Given the description of an element on the screen output the (x, y) to click on. 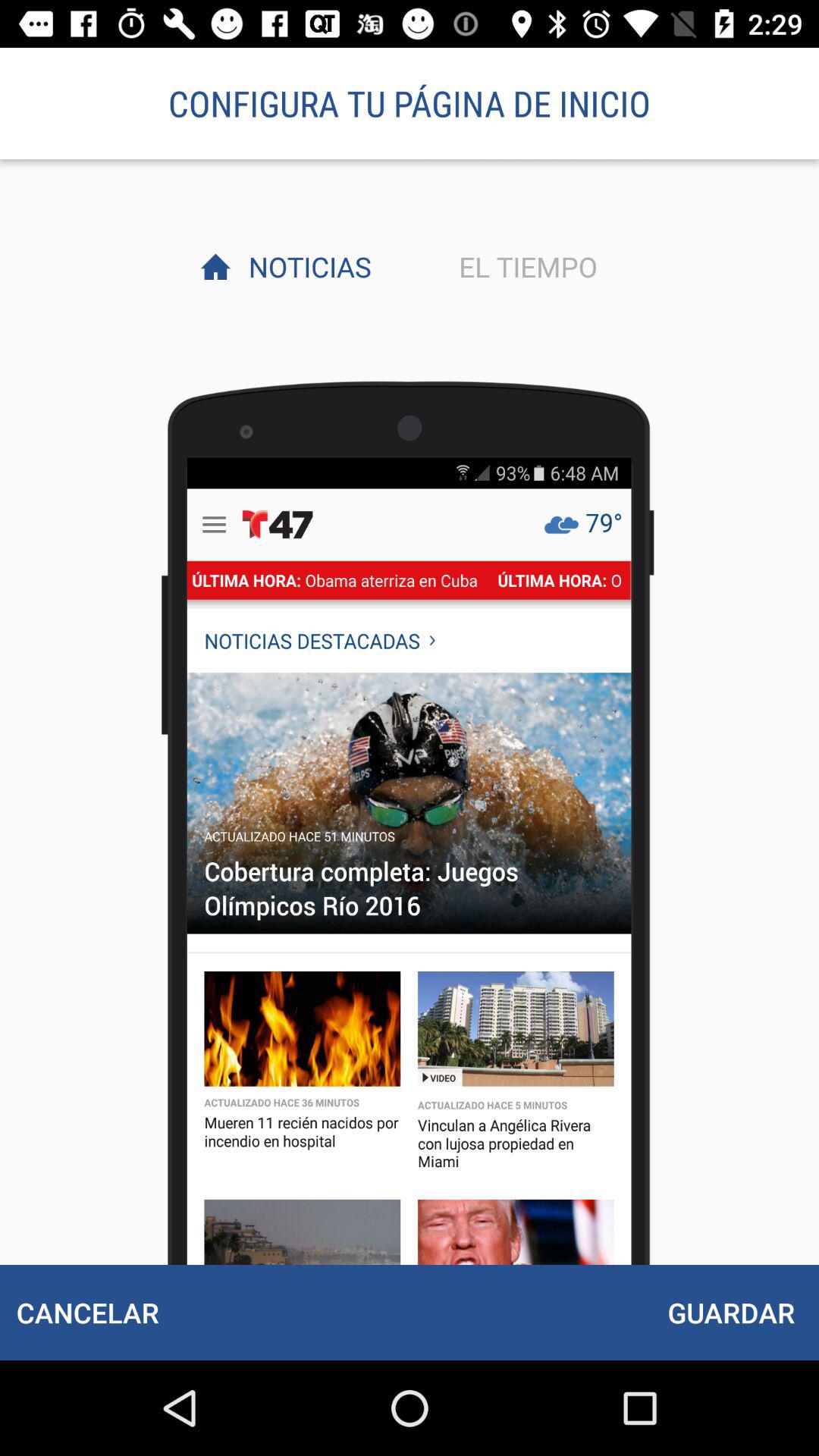
tap the icon at the bottom right corner (731, 1312)
